Given the description of an element on the screen output the (x, y) to click on. 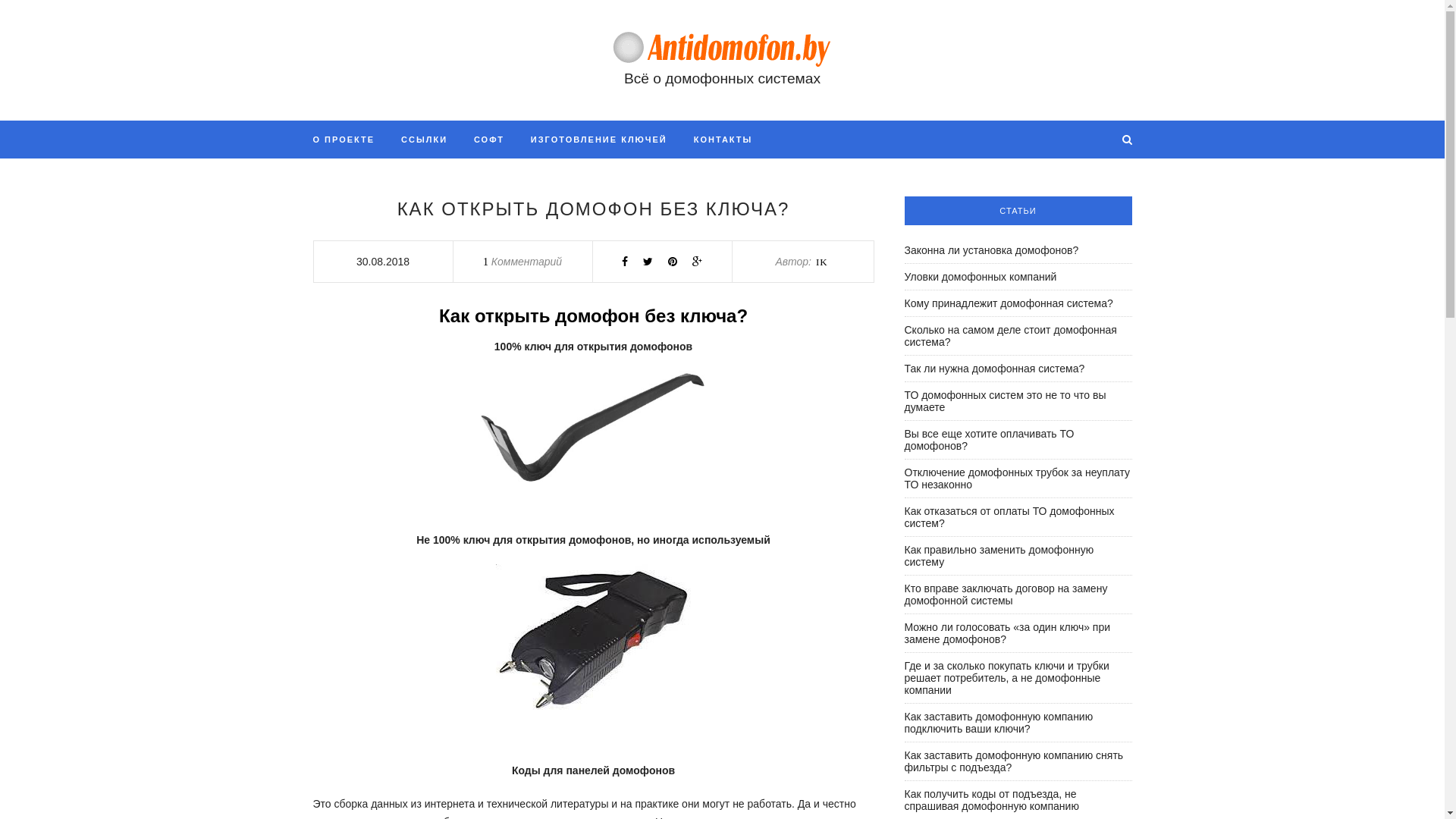
IK Element type: text (821, 261)
